Given the description of an element on the screen output the (x, y) to click on. 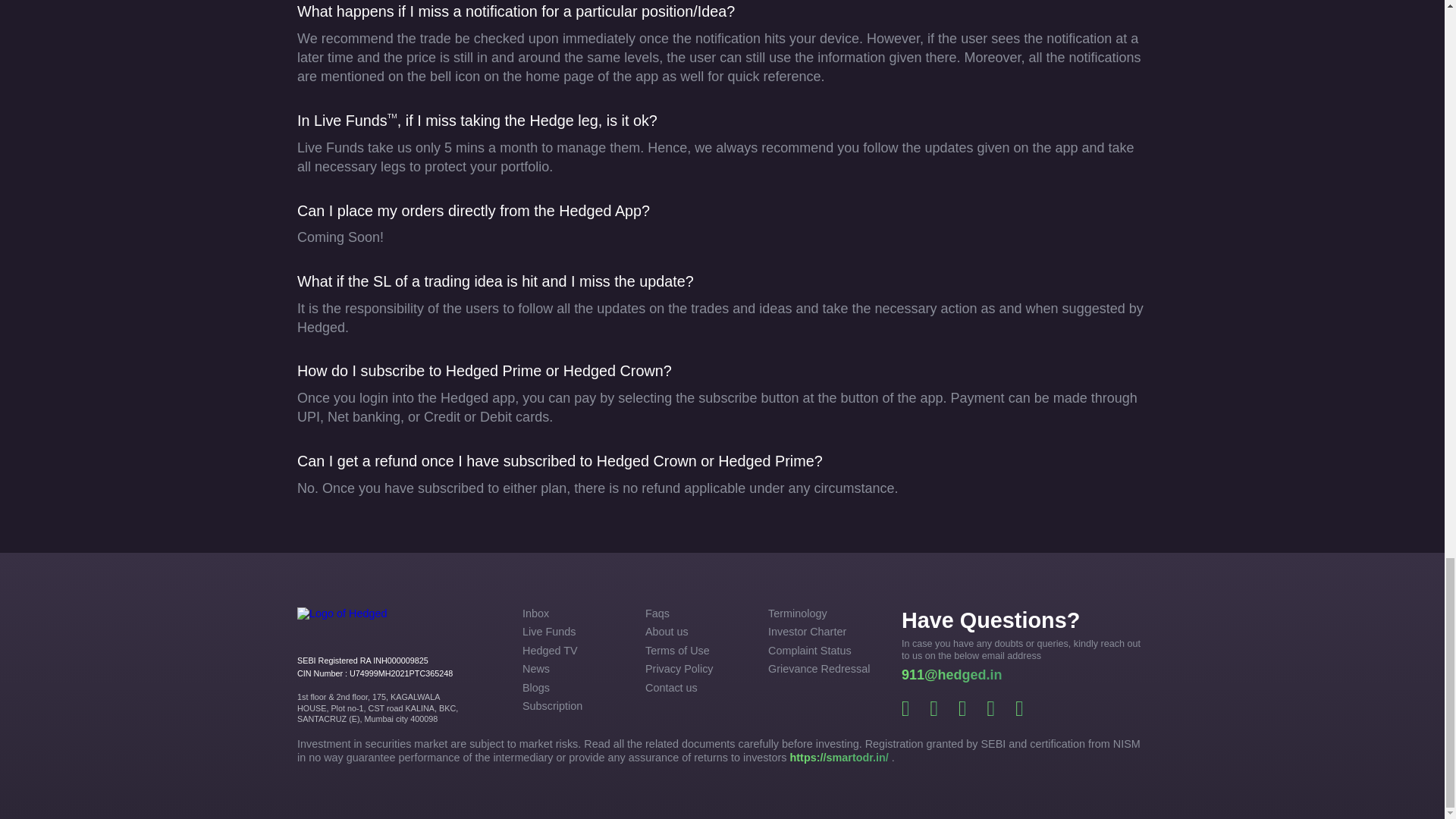
Faqs (699, 613)
Privacy Policy (699, 668)
Complaint Status (822, 650)
Hedged TV (576, 650)
Blogs (576, 687)
Inbox (576, 613)
Grievance Redressal (822, 668)
News (576, 668)
About us (699, 631)
Subscription (576, 706)
Contact us (699, 687)
Live Funds (576, 631)
Terminology (822, 613)
Terms of Use (699, 650)
Investor Charter (822, 631)
